Given the description of an element on the screen output the (x, y) to click on. 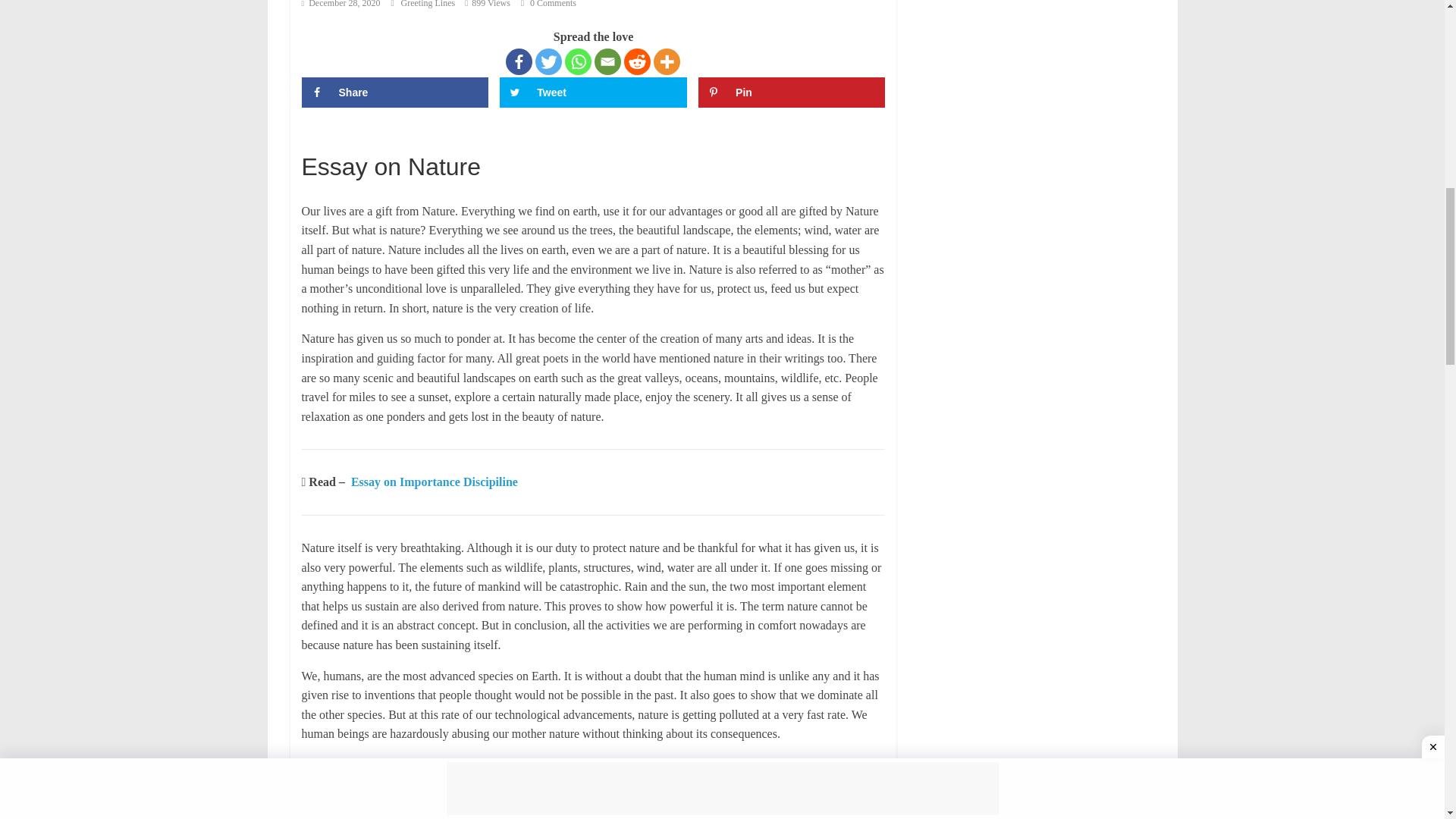
Email (607, 61)
Greeting Lines (428, 4)
Greeting Lines (428, 4)
12:18 pm (340, 4)
Whatsapp (577, 61)
Facebook (518, 61)
December 28, 2020 (340, 4)
Twitter (548, 61)
More (666, 61)
Reddit (637, 61)
